Given the description of an element on the screen output the (x, y) to click on. 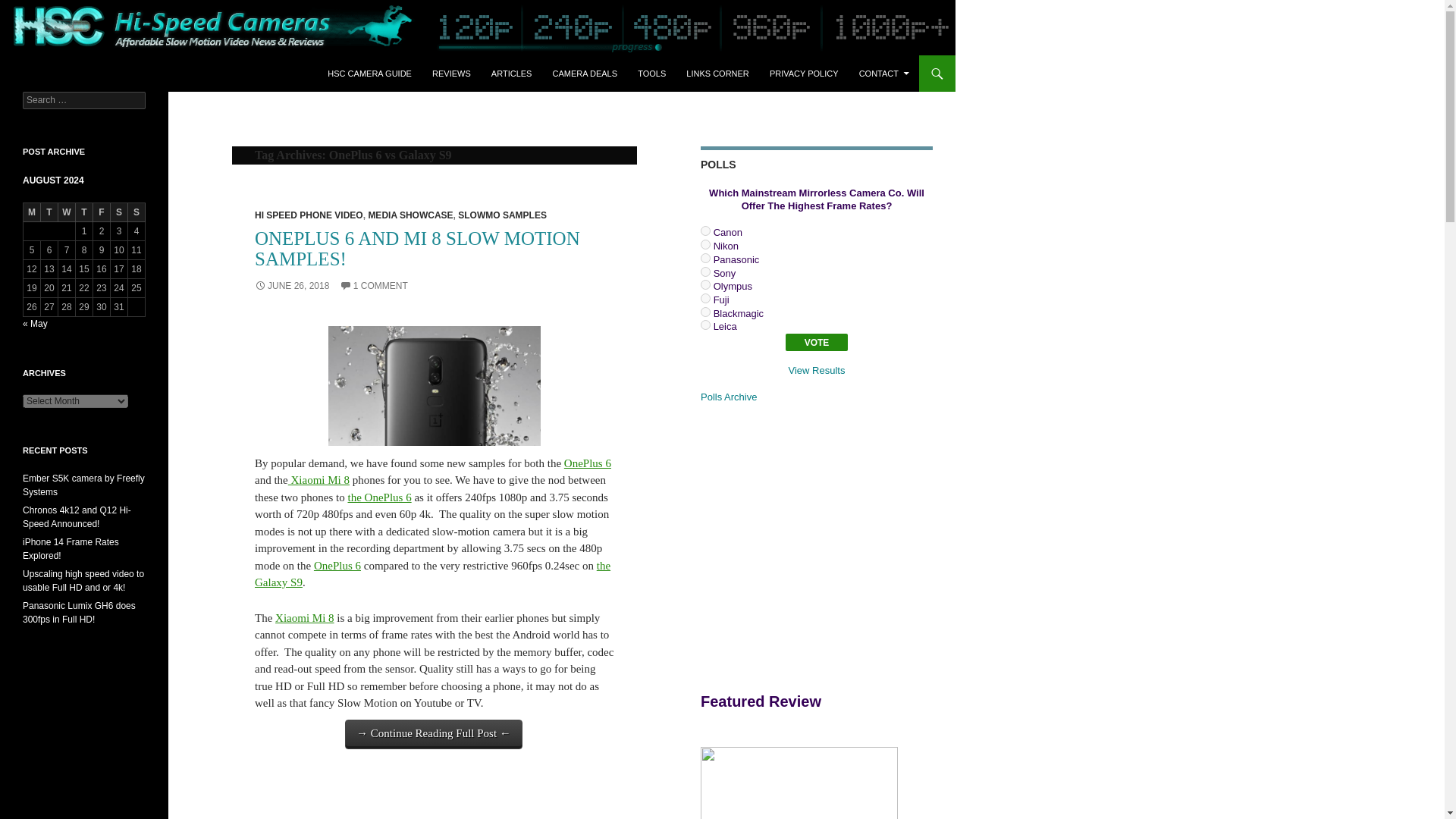
ARTICLES (511, 73)
Tuesday (49, 212)
Wednesday (66, 212)
Monday (31, 212)
the Galaxy S9 (432, 573)
Saturday (119, 212)
53 (705, 284)
OnePlus 6 (337, 565)
JUNE 26, 2018 (291, 285)
49 (705, 230)
CONTACT (884, 73)
55 (705, 311)
MEDIA SHOWCASE (410, 214)
51 (705, 257)
HI SPEED PHONE VIDEO (308, 214)
